Given the description of an element on the screen output the (x, y) to click on. 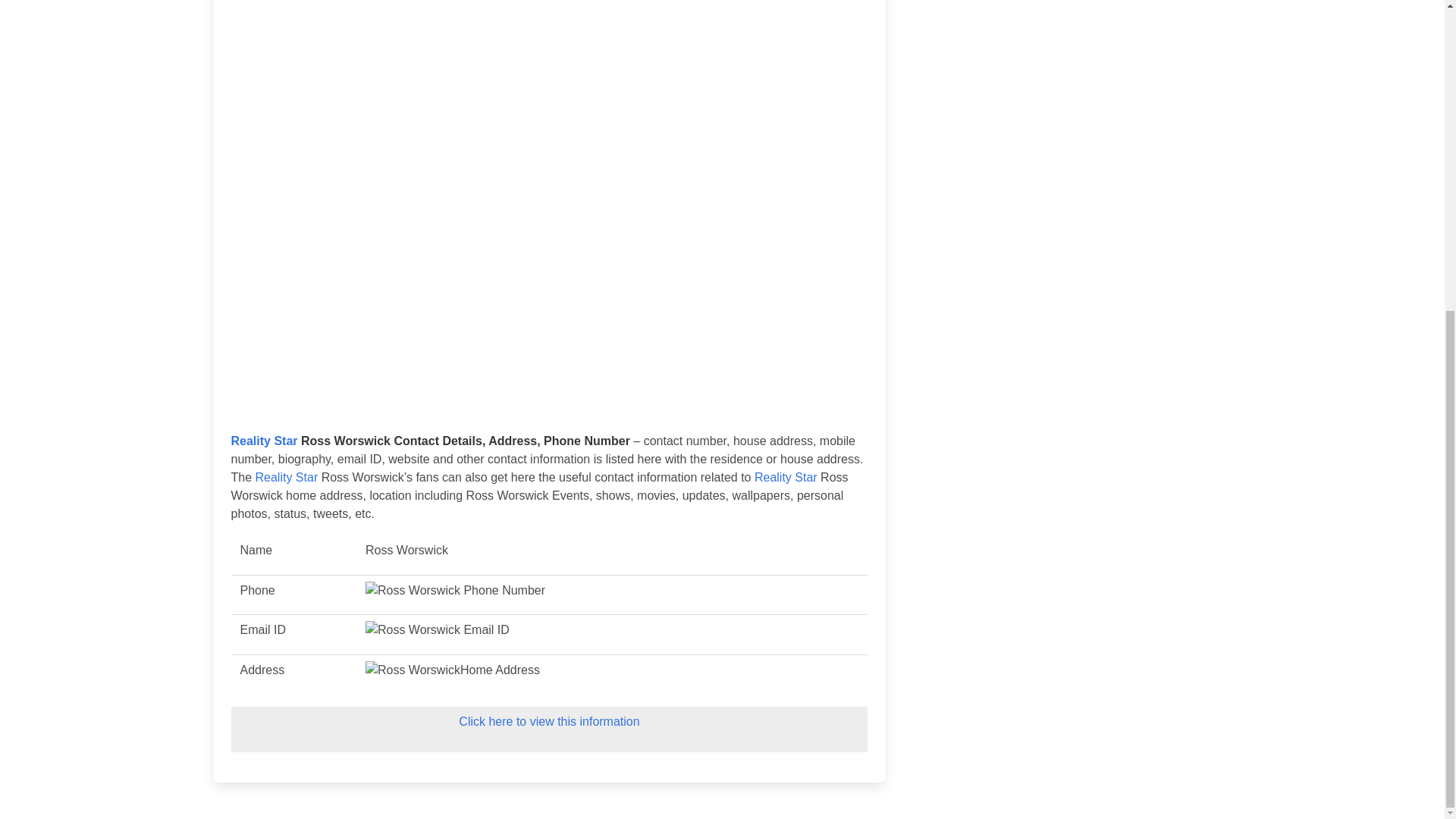
Click here to view this information (548, 721)
Reality Star (263, 440)
Reality Star (785, 477)
Reality Star (287, 477)
